Given the description of an element on the screen output the (x, y) to click on. 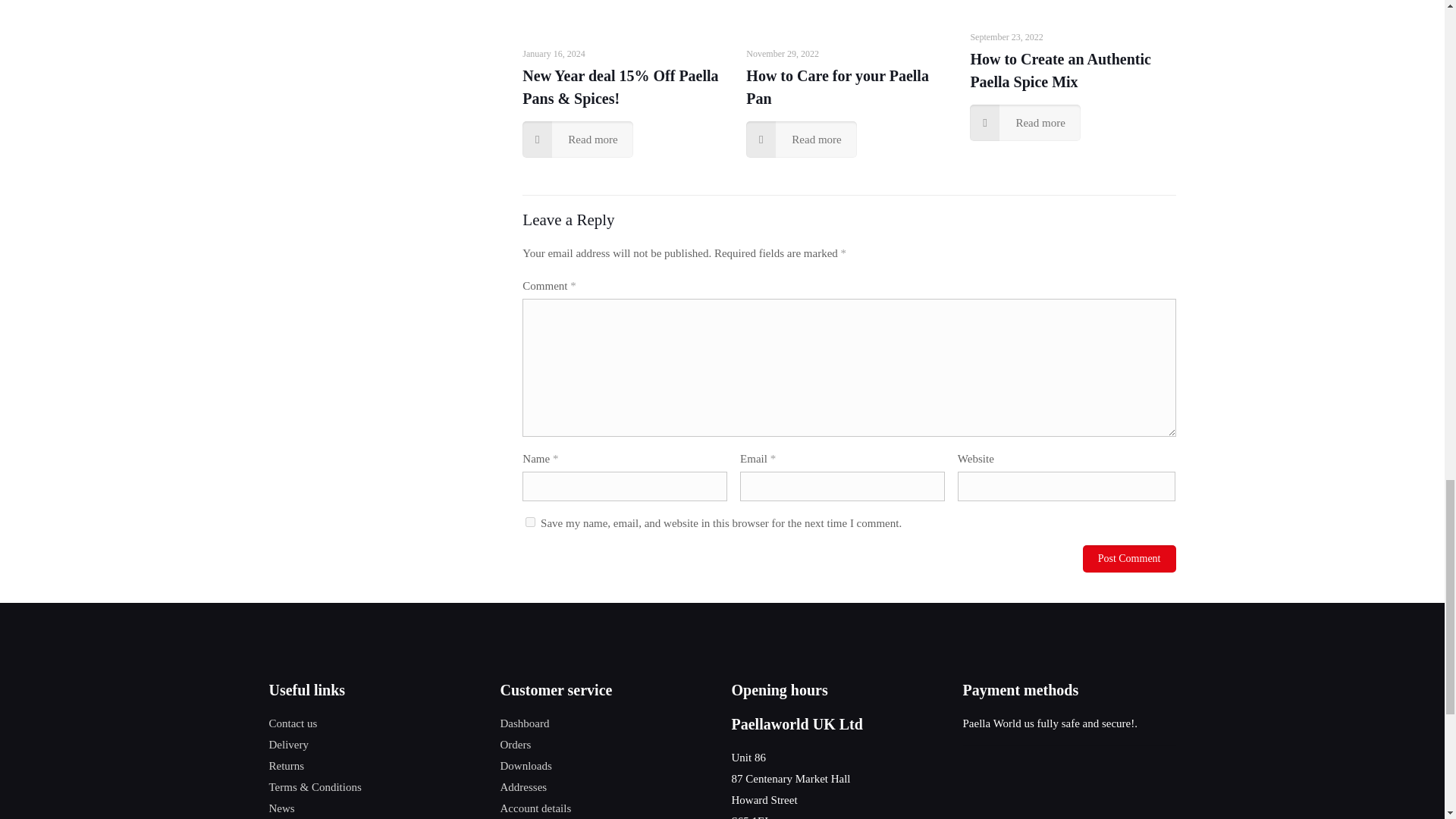
How to Create an Authentic Paella Spice Mix 10 (1071, 3)
How to Care for your Paella Pan 8 (848, 12)
Post Comment (1129, 558)
yes (530, 521)
